Given the description of an element on the screen output the (x, y) to click on. 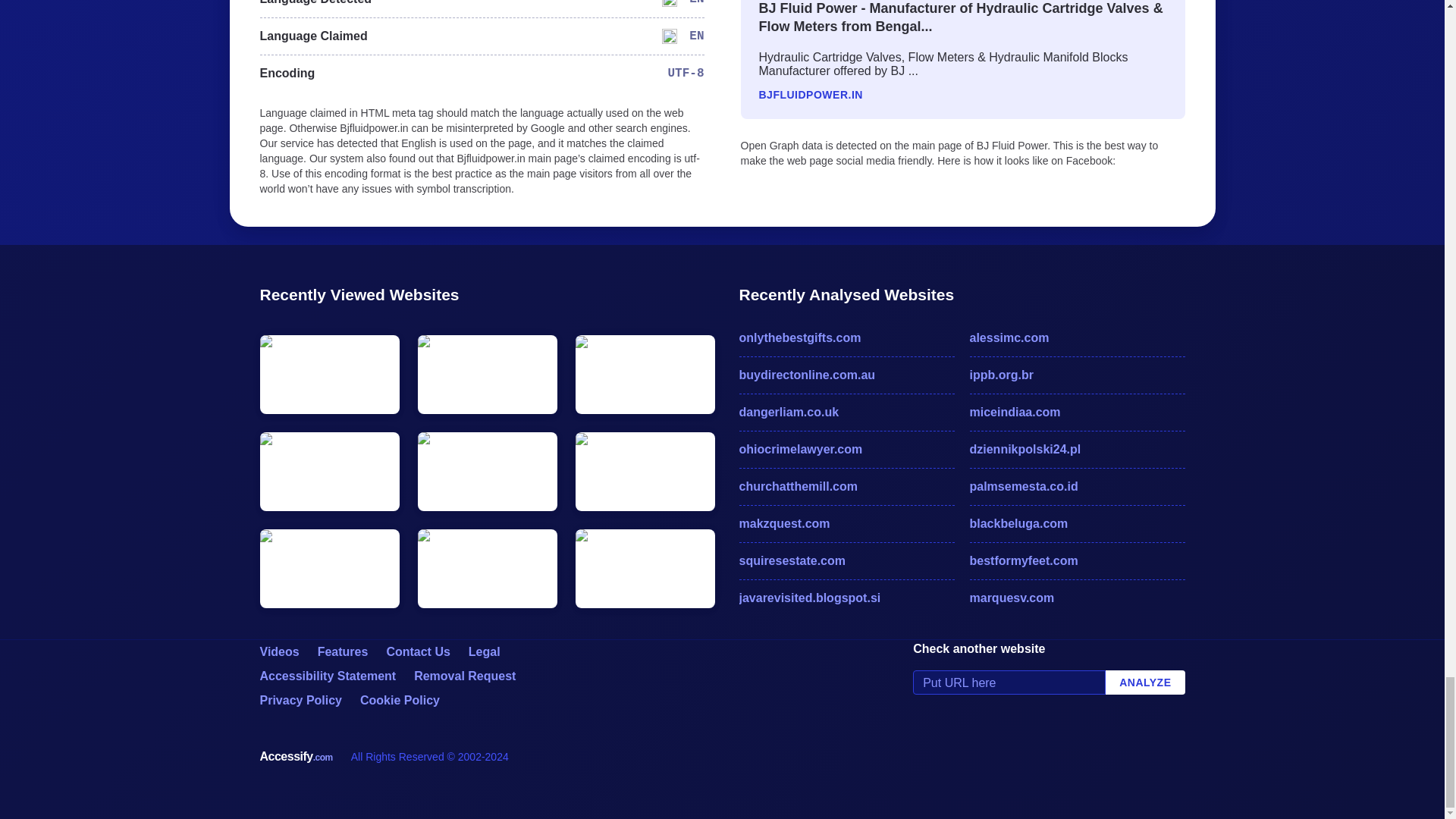
marquesv.com (1077, 597)
squiresestate.com (845, 561)
ippb.org.br (1077, 375)
dziennikpolski24.pl (1077, 449)
dangerliam.co.uk (845, 412)
alessimc.com (1077, 338)
bestformyfeet.com (1077, 561)
miceindiaa.com (1077, 412)
Legal (484, 651)
javarevisited.blogspot.si (845, 597)
palmsemesta.co.id (1077, 486)
Screencasts: video tutorials and guides (278, 651)
Features (342, 651)
blackbeluga.com (1077, 524)
